Given the description of an element on the screen output the (x, y) to click on. 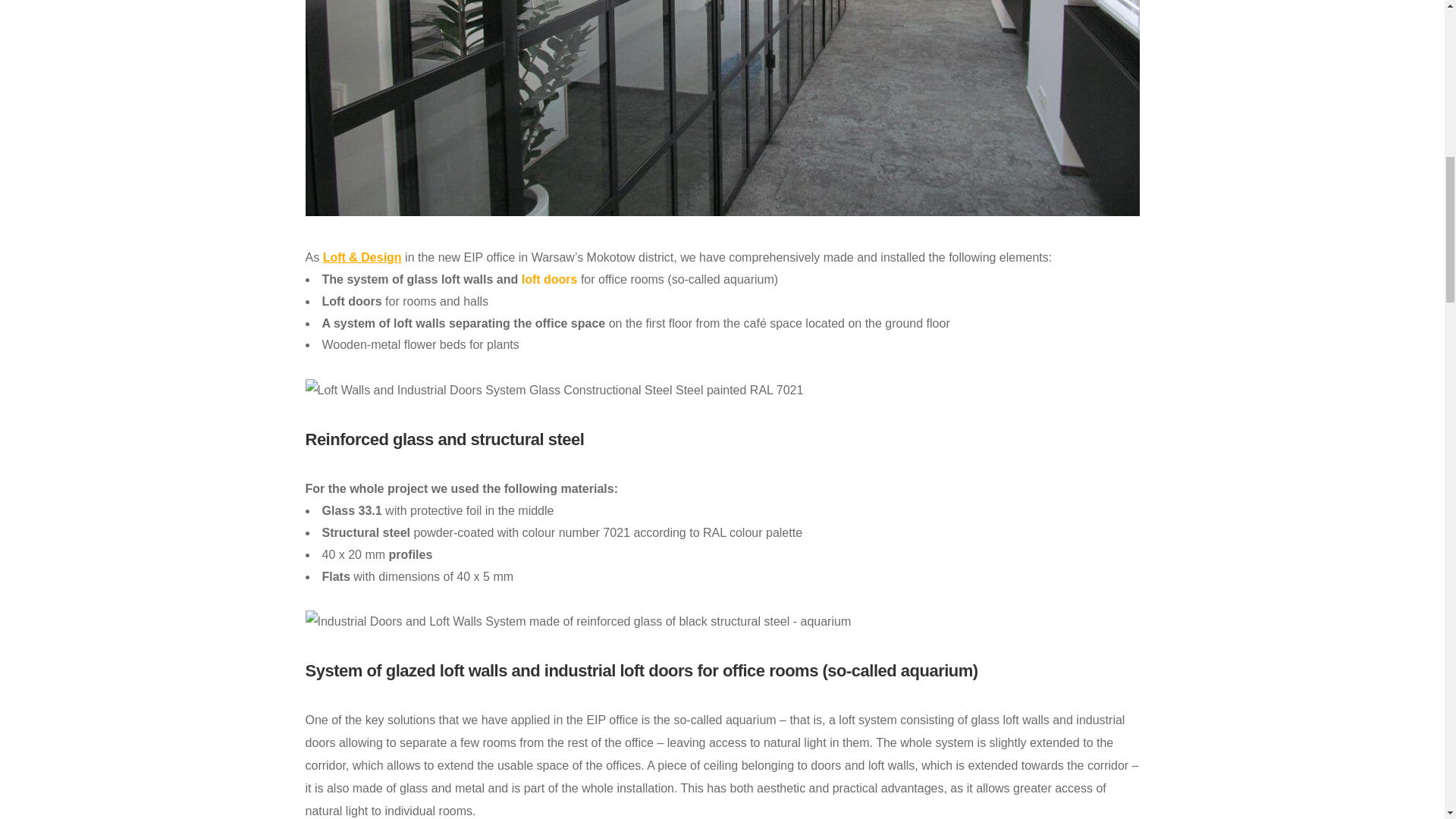
loft doors (549, 278)
